Given the description of an element on the screen output the (x, y) to click on. 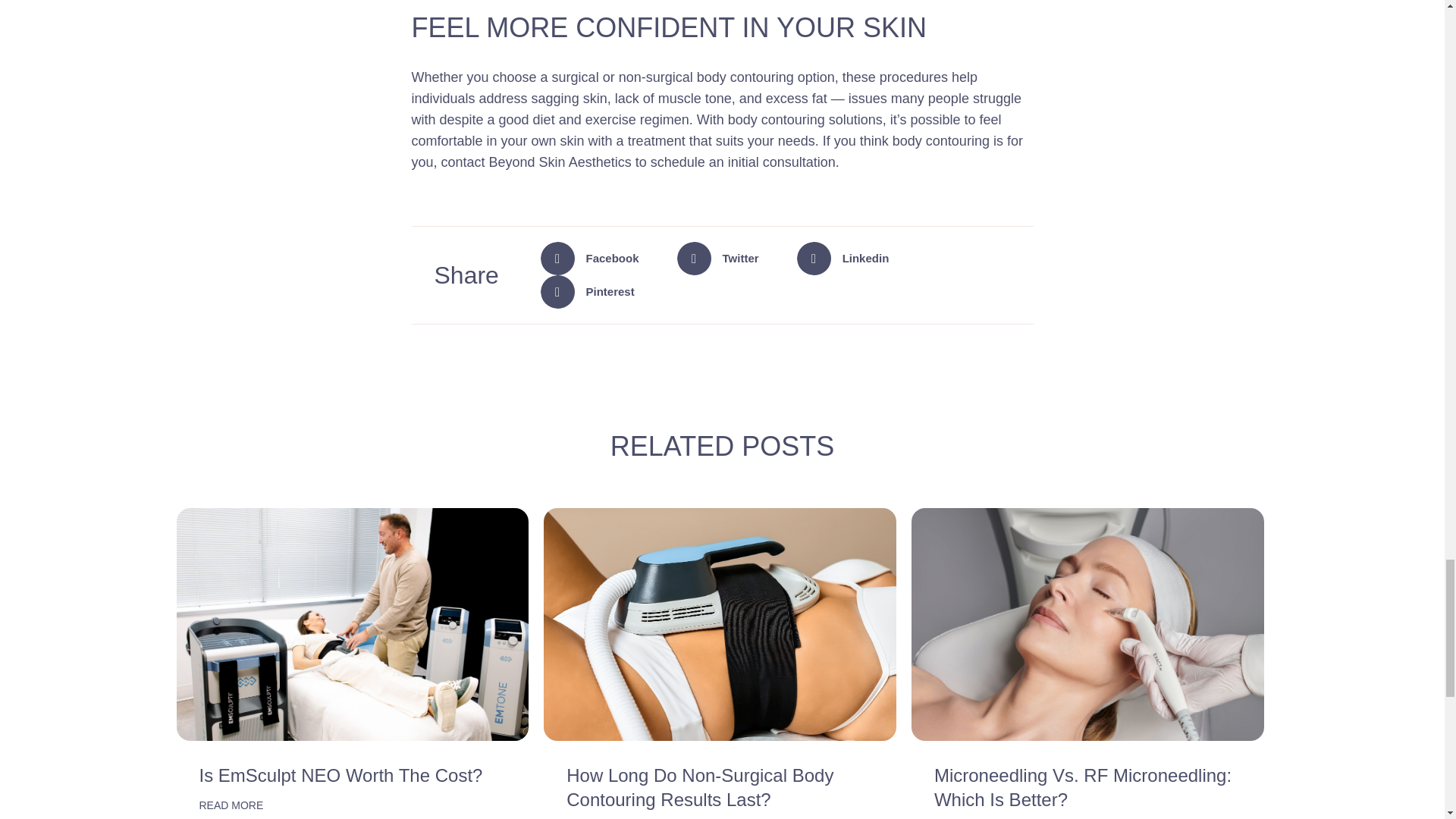
Twitter (723, 258)
Facebook (595, 258)
